Given the description of an element on the screen output the (x, y) to click on. 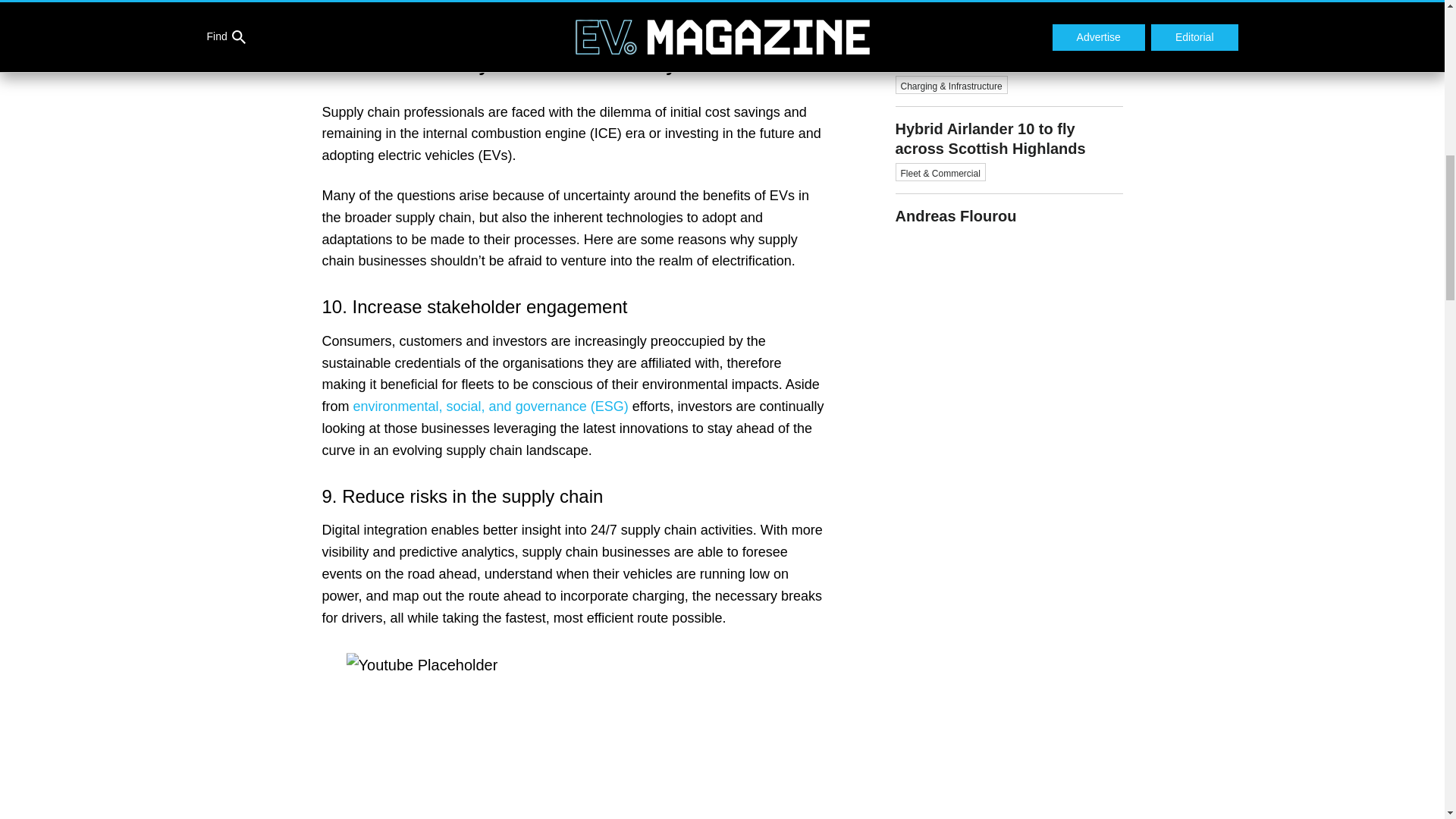
Andreas Flourou (1008, 210)
